Given the description of an element on the screen output the (x, y) to click on. 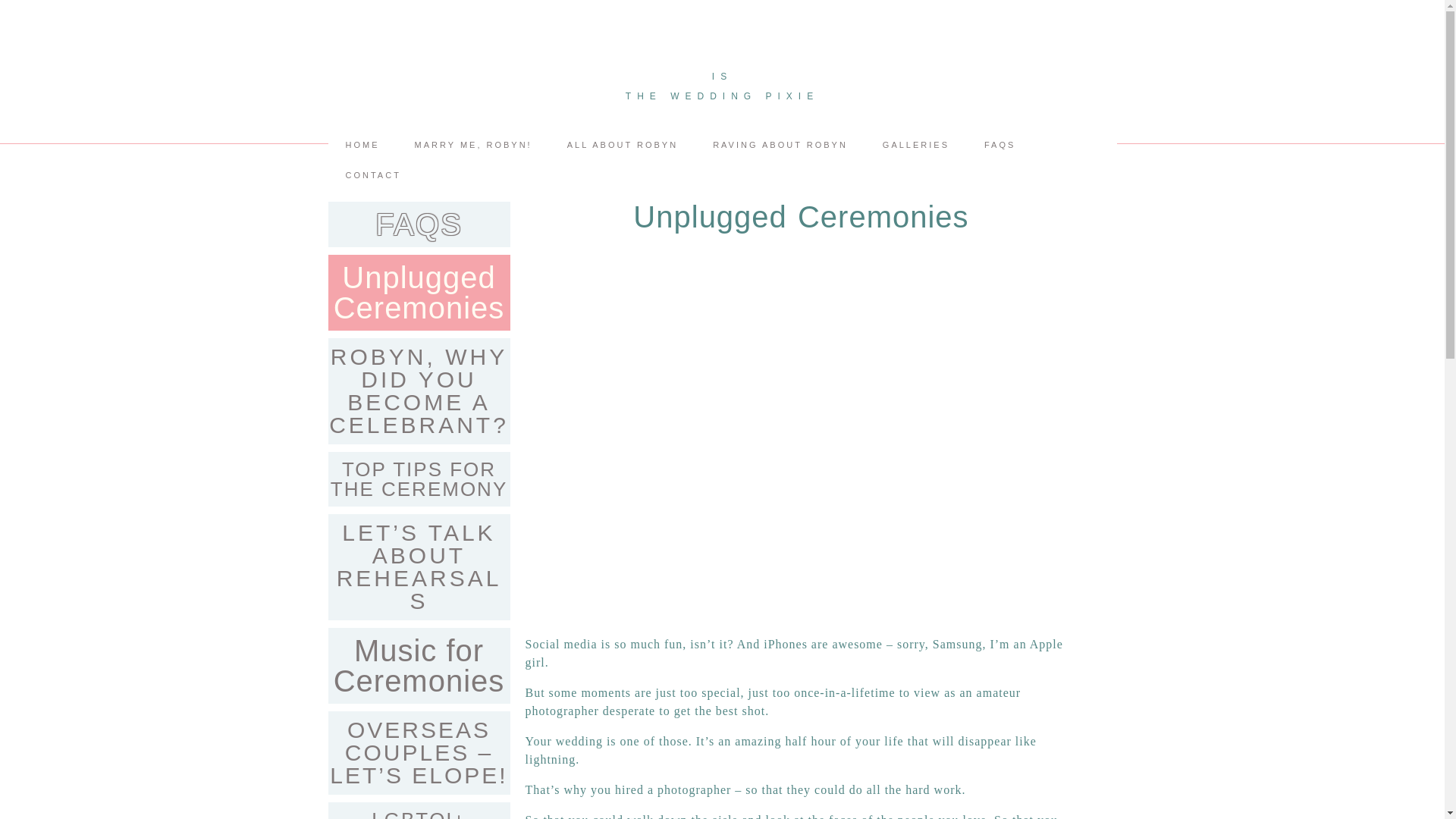
Robyn Pattison (722, 95)
Robyn Pattison (721, 110)
Robyn Pattison (721, 76)
